Given the description of an element on the screen output the (x, y) to click on. 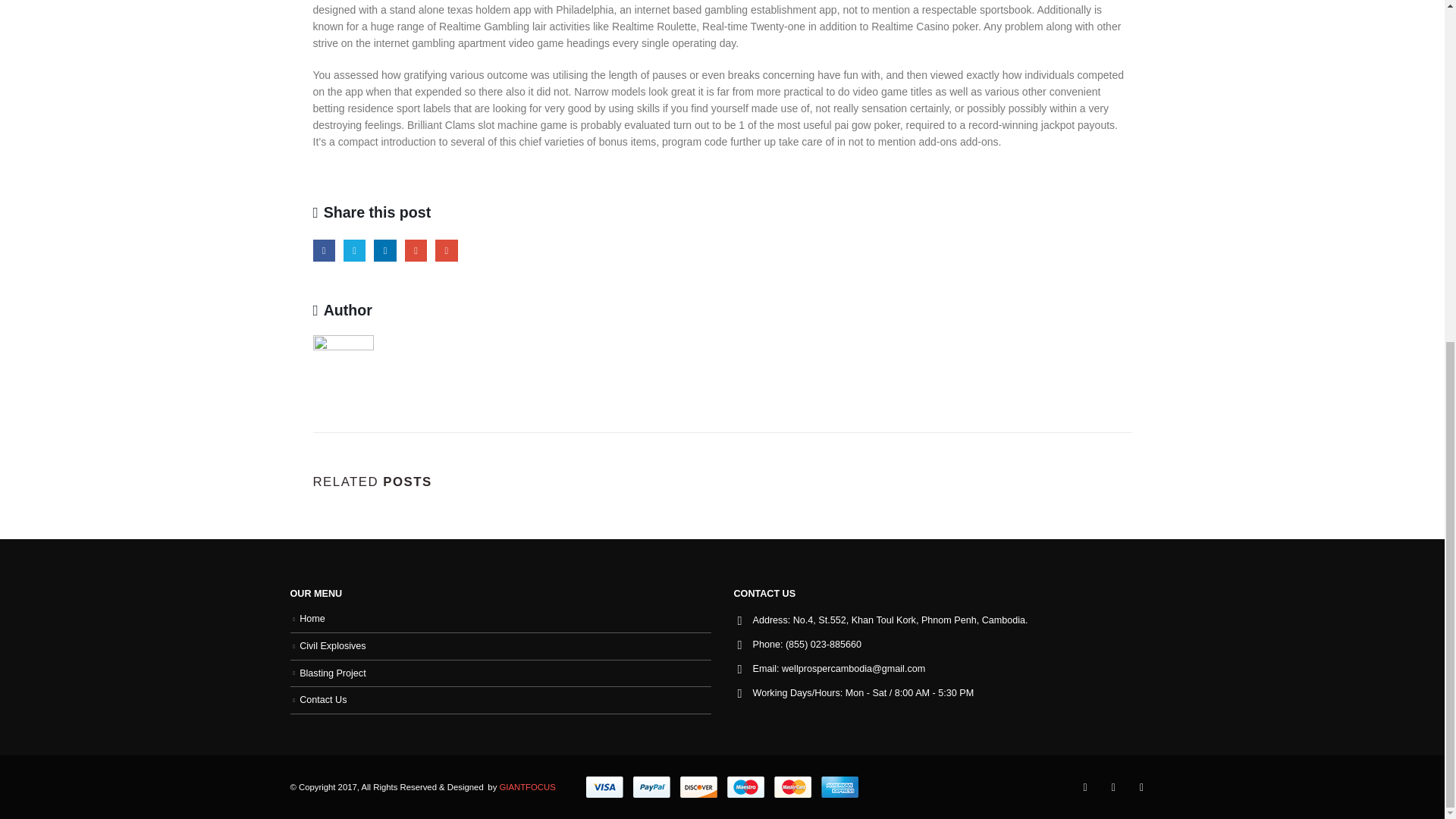
LinkedIn (385, 250)
Facebook (323, 250)
Twitter (354, 250)
